Given the description of an element on the screen output the (x, y) to click on. 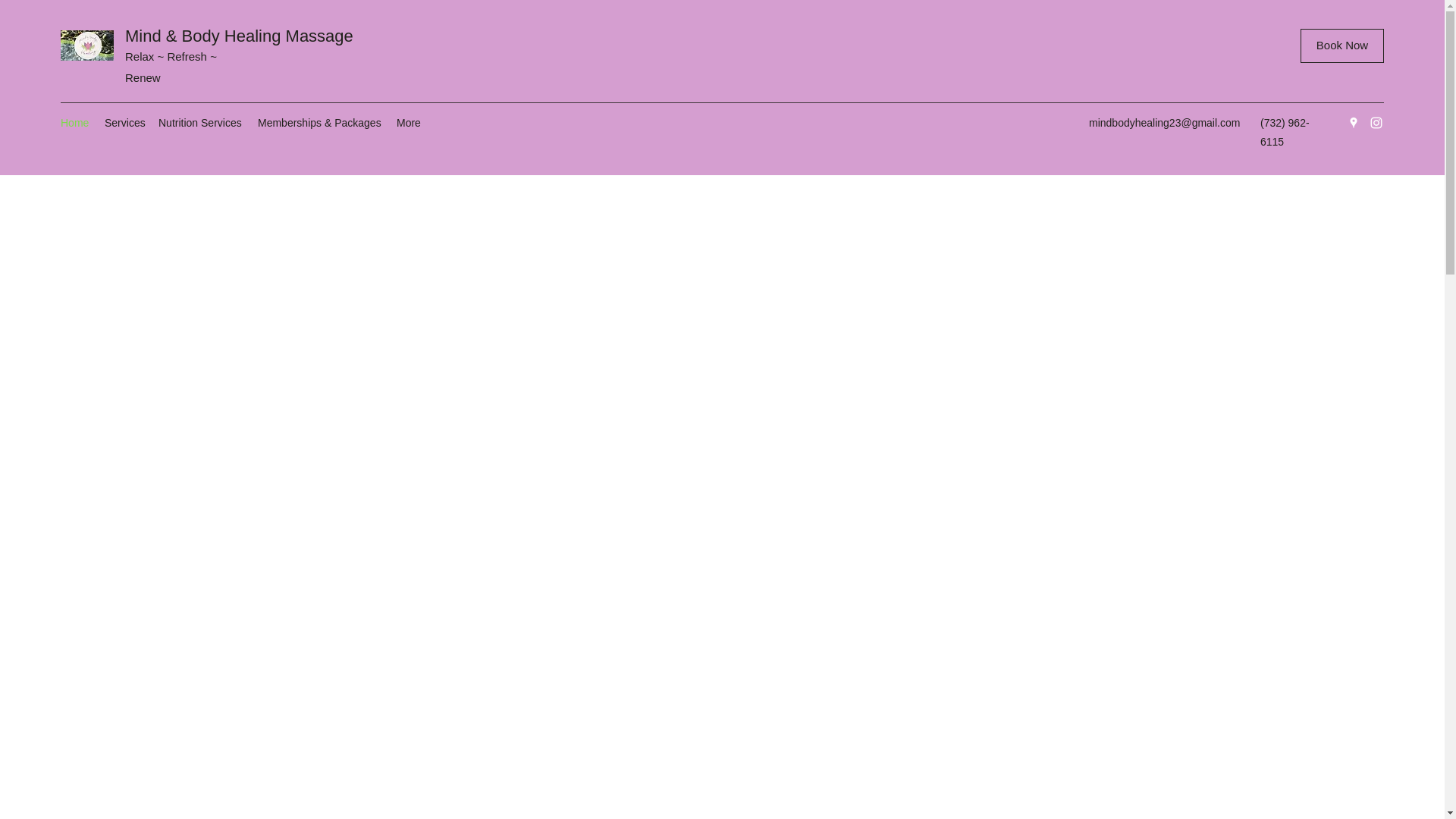
Nutrition Services (200, 122)
Services (124, 122)
Book Now (1342, 45)
Home (74, 122)
